Given the description of an element on the screen output the (x, y) to click on. 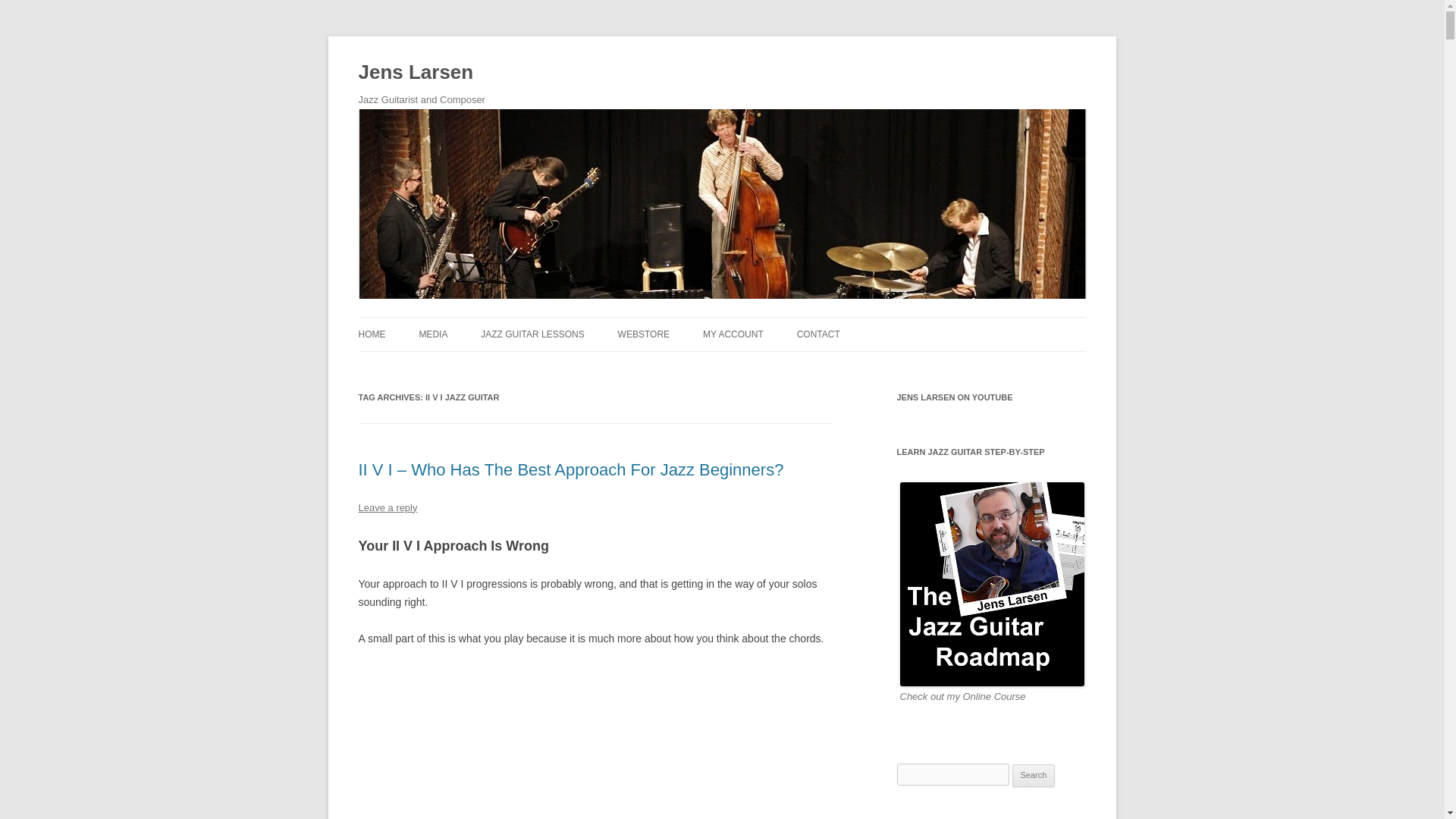
Leave a reply (387, 507)
MEDIA (432, 334)
Jens Larsen (415, 72)
ONLINE LESSONS (555, 366)
MY ACCOUNT (732, 334)
II V I - Who Has The Best Approach For Jazz Beginners? (594, 742)
JAZZ GUITAR LESSONS (531, 334)
Search (1033, 775)
WEBSTORE (643, 334)
CONTACT (818, 334)
Jens Larsen (415, 72)
CART (778, 366)
HOME (371, 334)
